Given the description of an element on the screen output the (x, y) to click on. 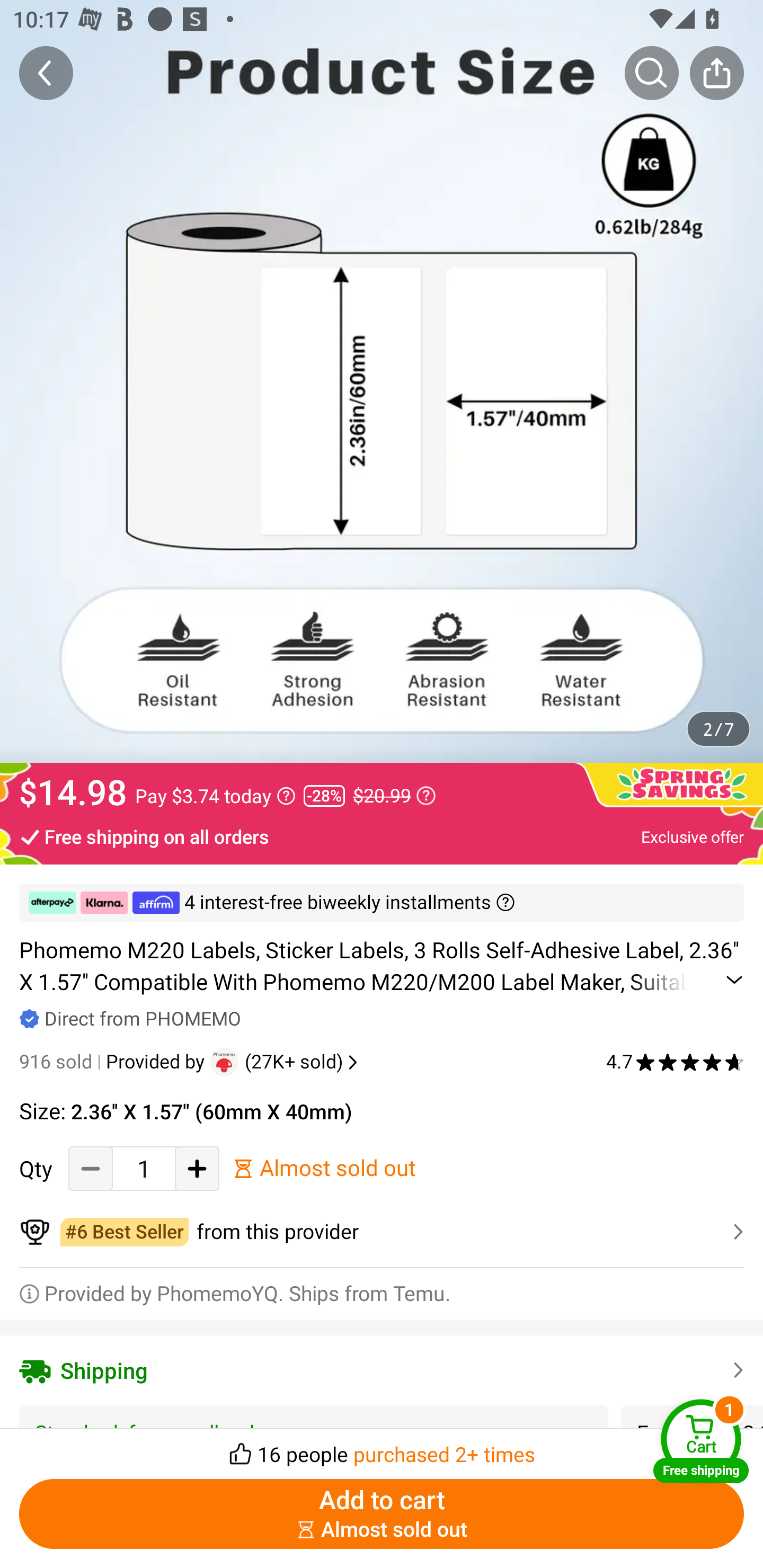
Back (46, 72)
Share (716, 72)
Pay $3.74 today   (215, 795)
Free shipping on all orders Exclusive offer (381, 836)
￼ ￼ ￼ 4 interest-free biweekly installments ￼ (381, 902)
4.7 (674, 1061)
Decrease Quantity Button (90, 1168)
1 (143, 1168)
Add Quantity button (196, 1168)
￼￼from this provider (381, 1231)
Shipping (381, 1369)
Cart Free shipping Cart (701, 1440)
￼￼16 people purchased 2+ times (381, 1448)
Add to cart ￼￼Almost sold out (381, 1513)
